Given the description of an element on the screen output the (x, y) to click on. 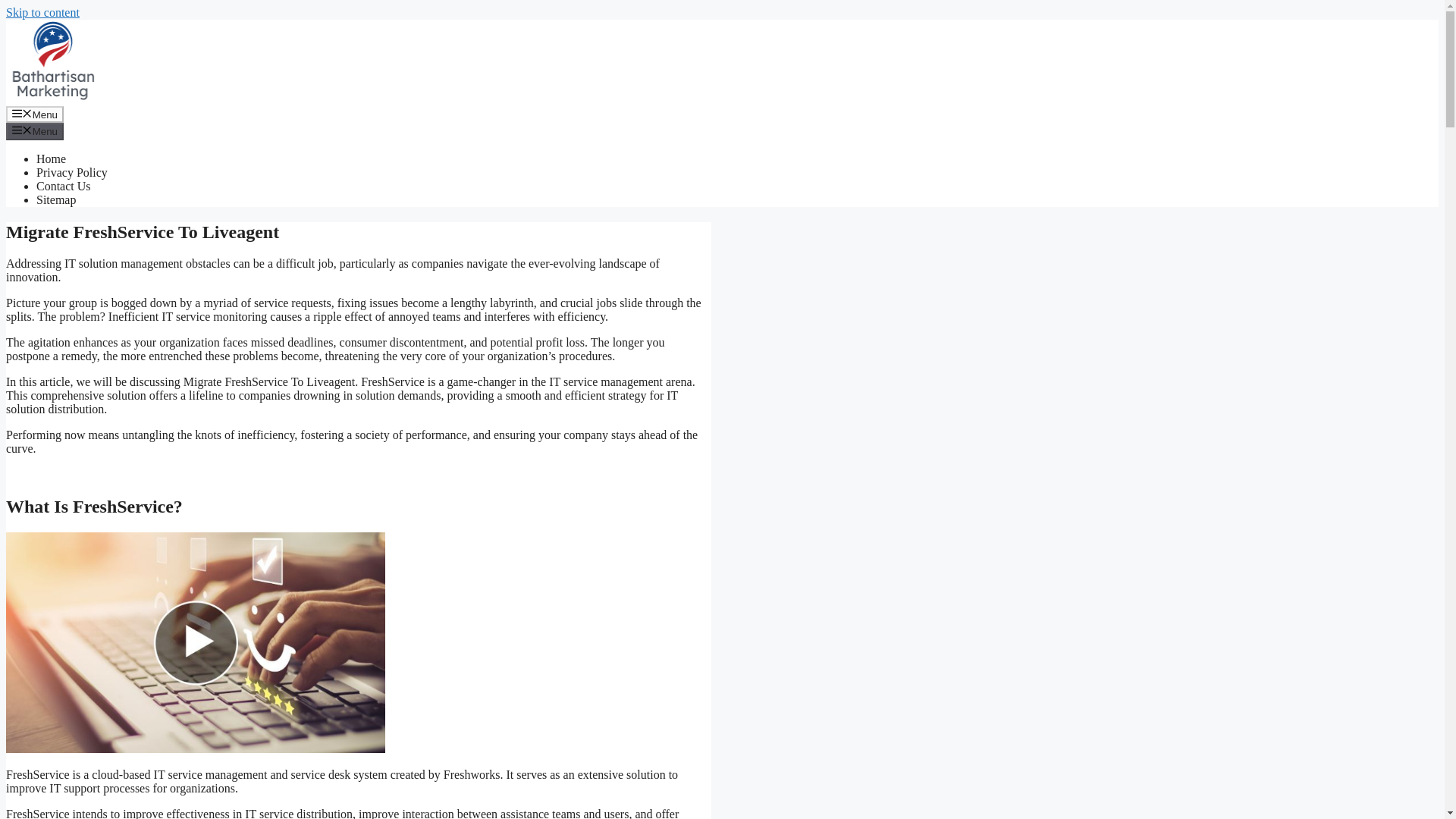
Contact Us (63, 185)
Menu (34, 130)
Skip to content (42, 11)
Skip to content (42, 11)
Menu (34, 114)
Privacy Policy (71, 172)
Home (50, 158)
Sitemap (55, 199)
